Given the description of an element on the screen output the (x, y) to click on. 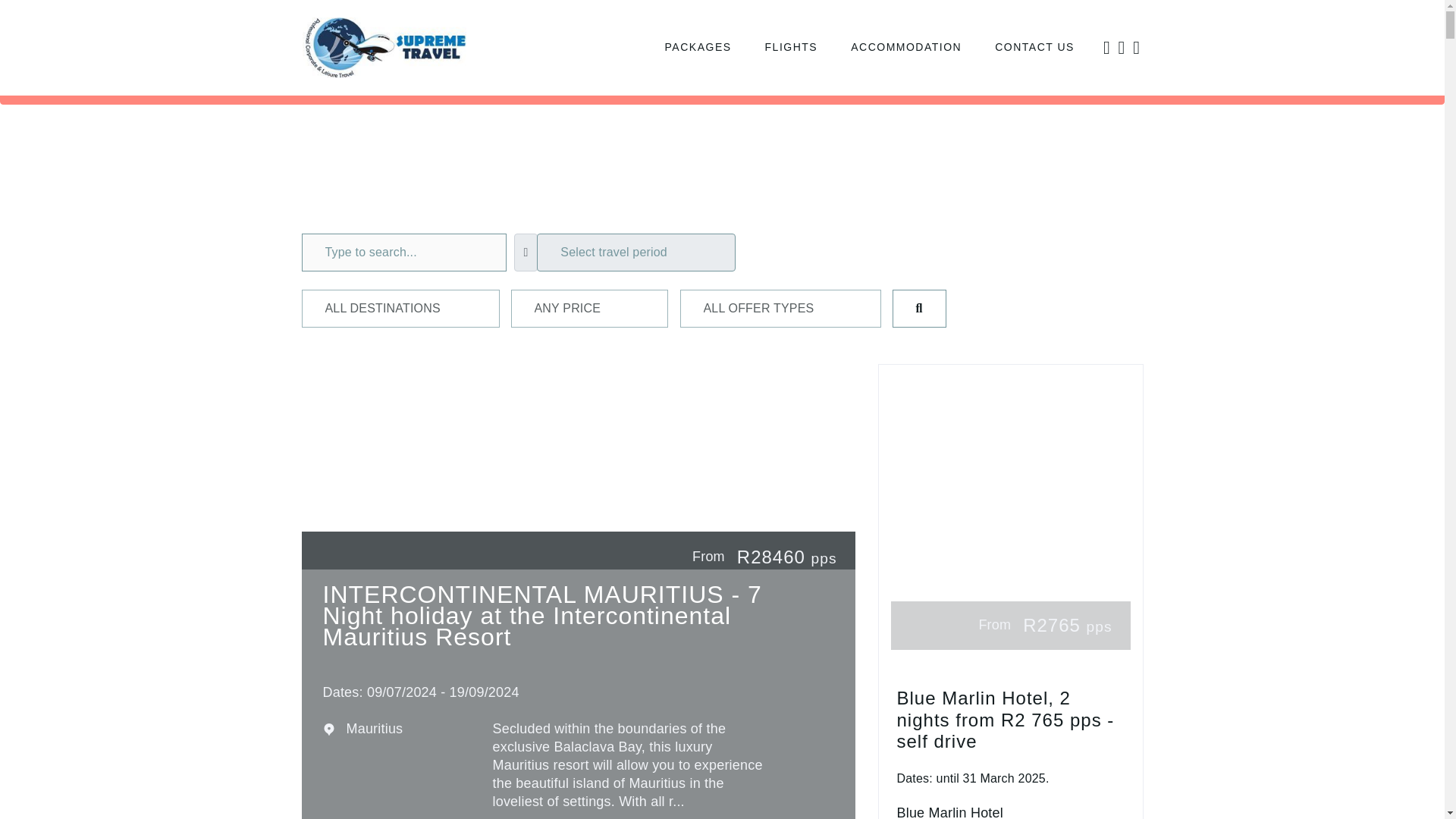
CONTACT US (1034, 47)
ACCOMMODATION (906, 47)
FLIGHTS (791, 47)
PACKAGES (698, 47)
